Given the description of an element on the screen output the (x, y) to click on. 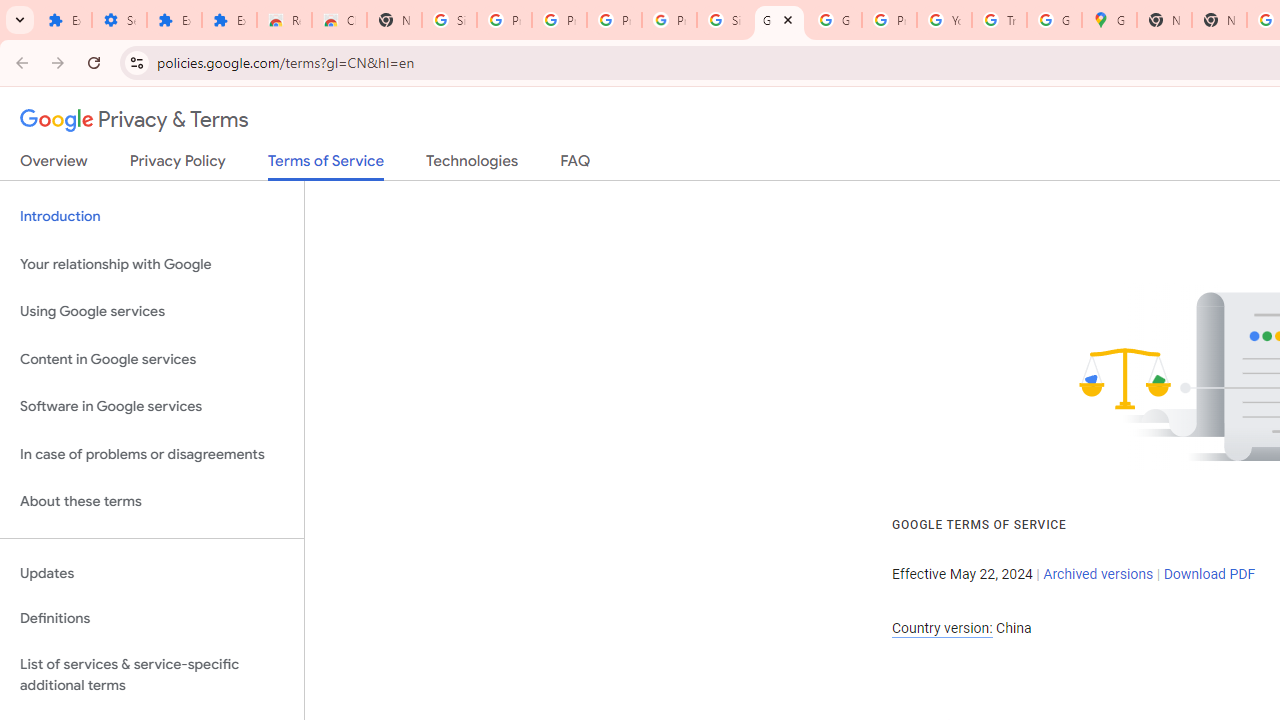
About these terms (152, 502)
Updates (152, 573)
Privacy & Terms (134, 120)
Settings (119, 20)
Your relationship with Google (152, 263)
In case of problems or disagreements (152, 453)
FAQ (575, 165)
Download PDF (1209, 574)
Extensions (229, 20)
